Given the description of an element on the screen output the (x, y) to click on. 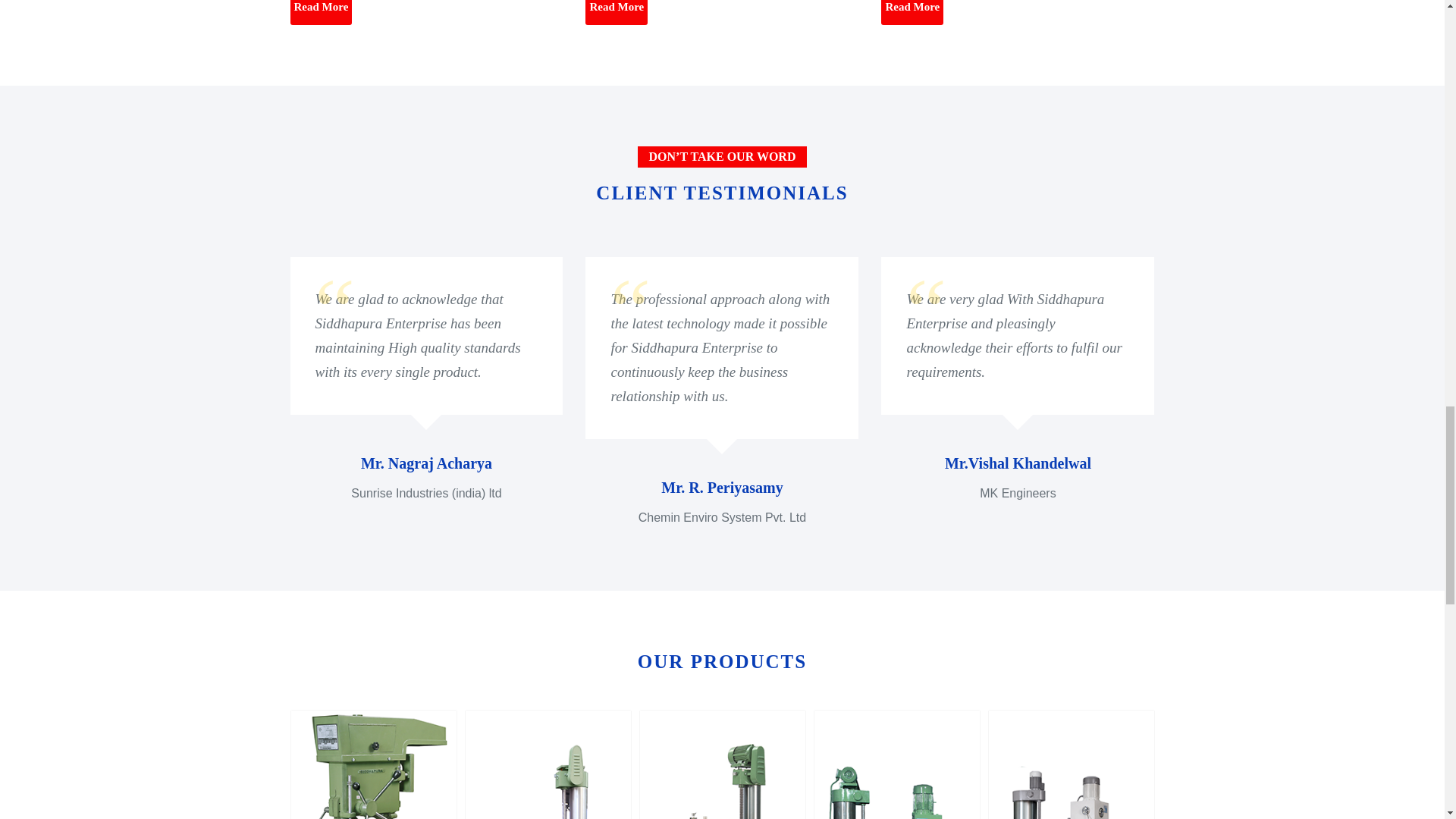
Read More (911, 12)
Read More (616, 12)
Read More (320, 12)
